Given the description of an element on the screen output the (x, y) to click on. 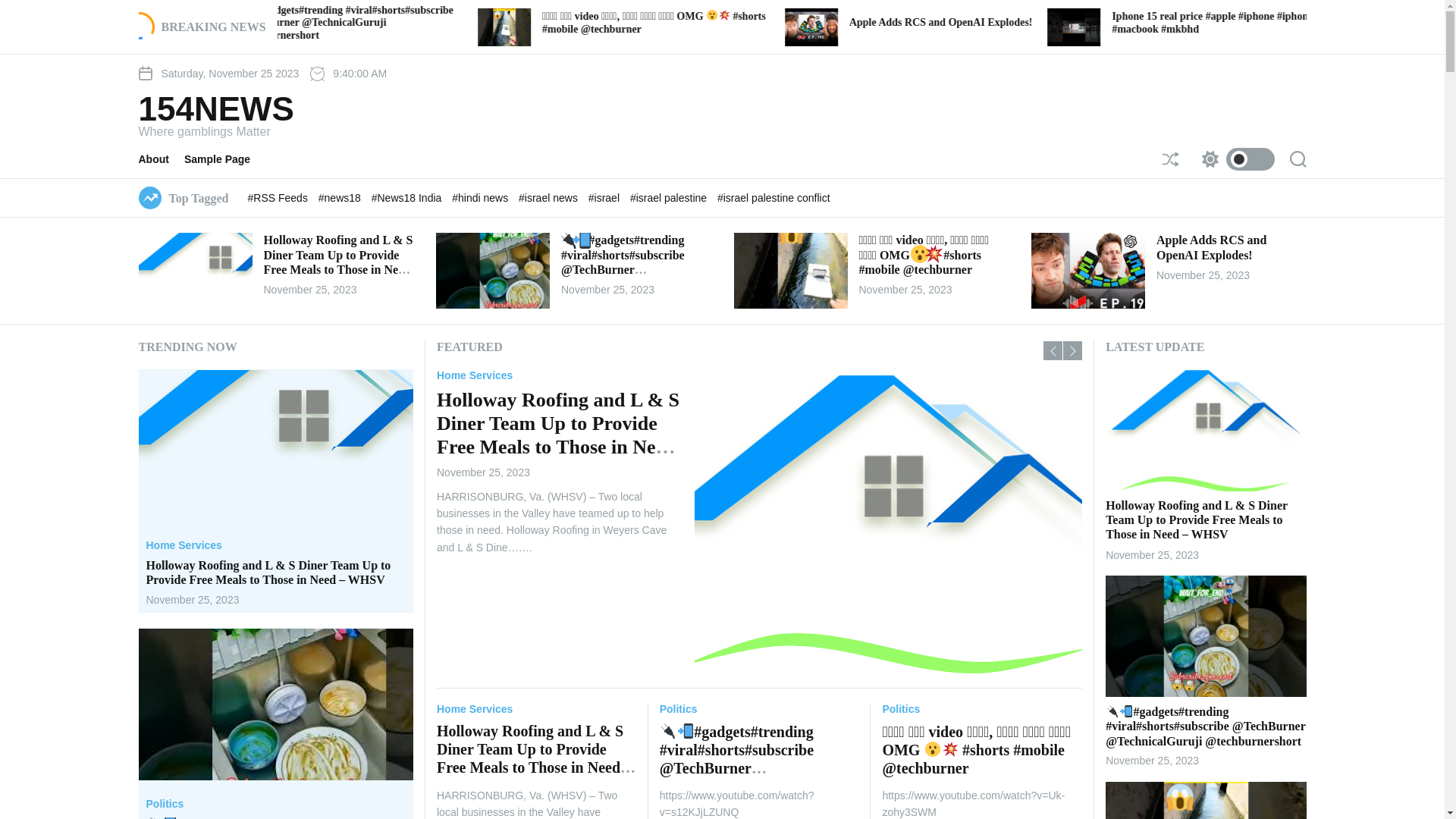
Switch color mode Element type: text (1233, 159)
#israel palestine conflict Element type: text (773, 197)
Politics Element type: text (1101, 375)
#hindi news Element type: text (481, 197)
154NEWS Element type: text (215, 183)
#israel Element type: text (605, 197)
Home Services Element type: text (474, 709)
#israel news Element type: text (549, 197)
#news18 Element type: text (341, 197)
#israel palestine Element type: text (669, 197)
Search Element type: text (1297, 159)
Shuffle Element type: text (1169, 159)
Home Services Element type: text (474, 375)
Politics Element type: text (678, 709)
About Element type: text (160, 235)
Apple Adds RCS and OpenAI Explodes! Element type: text (1211, 246)
Politics Element type: text (164, 804)
Home Services Element type: text (183, 545)
#News18 India Element type: text (408, 197)
Sample Page Element type: text (224, 235)
#RSS Feeds Element type: text (278, 197)
Politics Element type: text (900, 709)
